Given the description of an element on the screen output the (x, y) to click on. 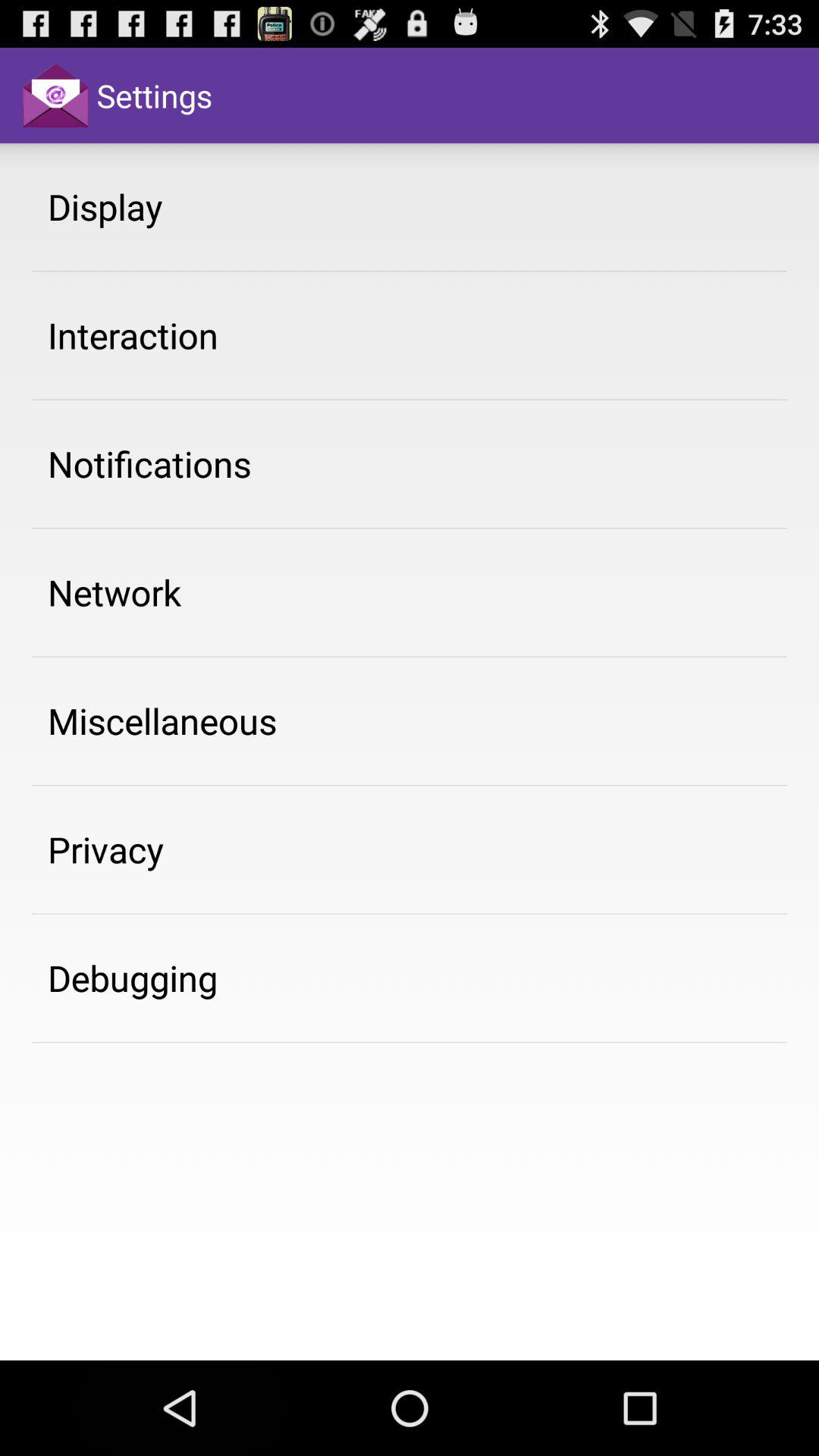
select the icon above the debugging icon (105, 849)
